Given the description of an element on the screen output the (x, y) to click on. 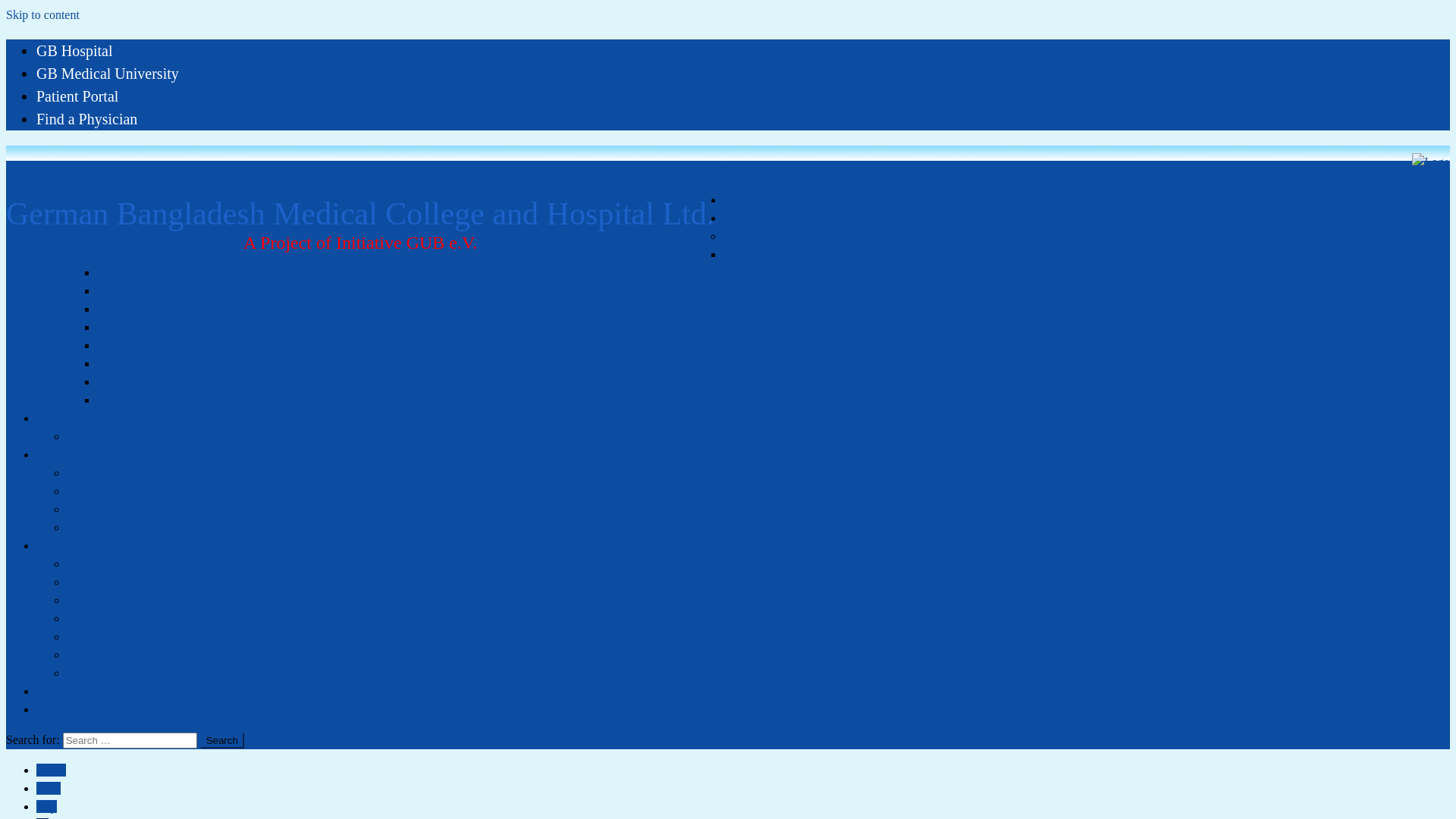
Privacy Practice Notice Element type: text (123, 617)
Search Element type: text (222, 740)
Plastic Surgeons Element type: text (137, 381)
Neonatology Element type: text (128, 363)
About Hospital Element type: text (73, 454)
Departments Element type: text (754, 235)
Physicians Element type: text (61, 417)
Language Assistance Element type: text (117, 654)
Podiatry Element type: text (117, 344)
Dermatology Element type: text (128, 290)
News and Events Element type: text (108, 508)
New Patient Paperwork Element type: text (124, 599)
List of Physicians Element type: text (109, 435)
July Element type: text (46, 806)
Charity Care Element type: text (97, 563)
GBH Nondiscrimination Notice Element type: text (143, 672)
German Bangladesh Medical College and Hospital Ltd. Element type: text (360, 201)
Patients Information Element type: text (116, 581)
Health Services Element type: text (135, 326)
Patient Portal Information Element type: text (129, 636)
Hematology Element type: text (126, 308)
Patient Portal Element type: text (77, 95)
About Medical University Element type: text (99, 690)
2020 Element type: text (48, 787)
Skip to content Element type: text (42, 14)
Find a Physician Element type: text (86, 118)
Hospital Medicine Element type: text (142, 399)
Patients Information Element type: text (85, 545)
GB Medical University Element type: text (107, 73)
GB Hospital Element type: text (74, 50)
Menu Element type: text (737, 169)
About GB Hospital Element type: text (113, 472)
Leadership Element type: text (93, 490)
Home Element type: text (50, 769)
Home Element type: text (738, 199)
Contact Element type: text (55, 708)
Practices Element type: text (745, 217)
Eye Element type: text (732, 253)
ENT Element type: text (108, 272)
Careers (Job Opportunities) Element type: text (133, 526)
